Given the description of an element on the screen output the (x, y) to click on. 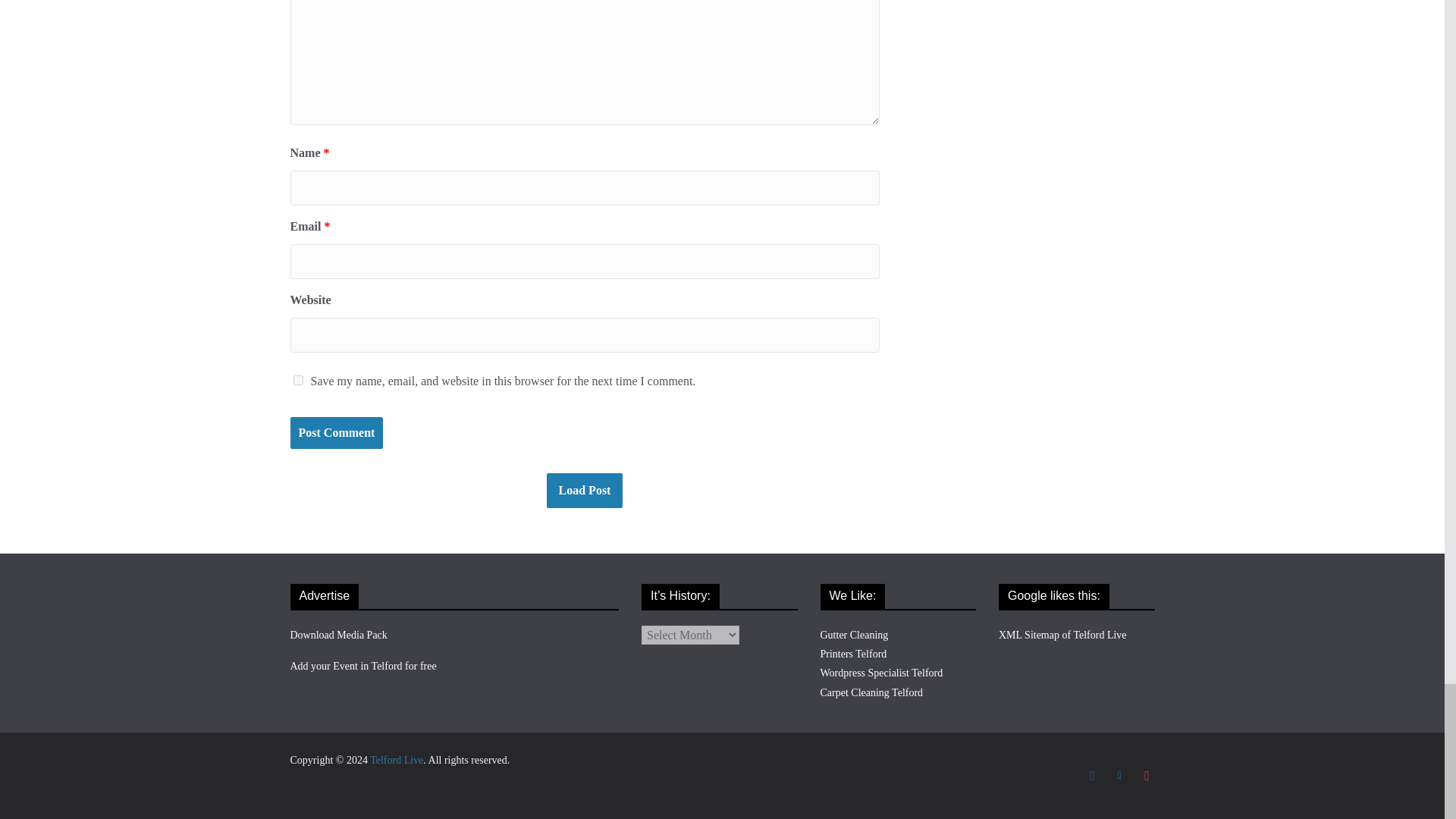
Telford Live (396, 759)
Post Comment (335, 432)
yes (297, 379)
